Given the description of an element on the screen output the (x, y) to click on. 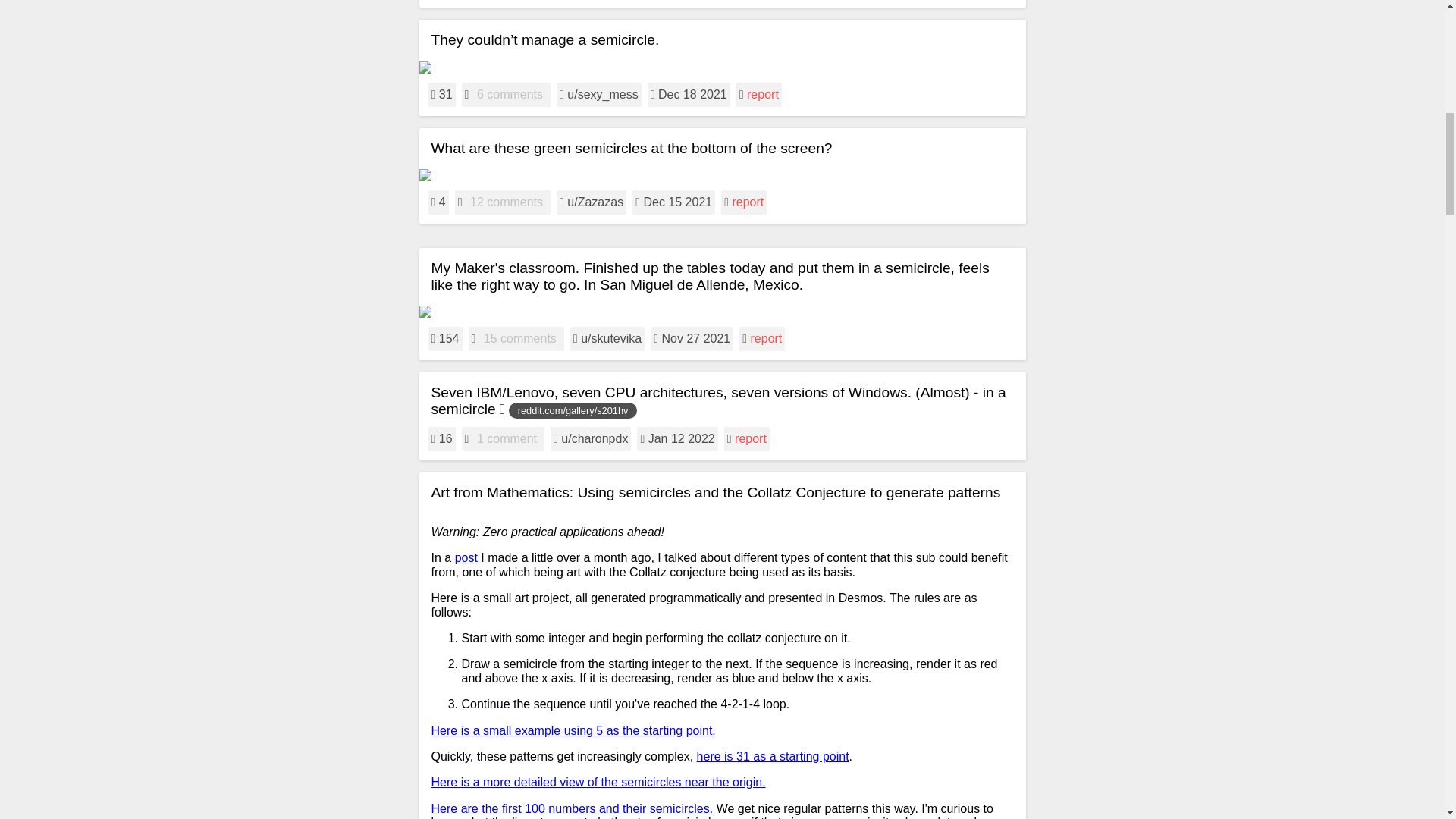
1 comment (506, 438)
report (751, 438)
report (747, 201)
Here is a small example using 5 as the starting point. (572, 730)
12 comments (506, 201)
report (762, 93)
report (767, 338)
15 comments (519, 338)
post (465, 557)
here is 31 as a starting point (772, 756)
6 comments (509, 94)
Here are the first 100 numbers and their semicircles. (571, 808)
